Given the description of an element on the screen output the (x, y) to click on. 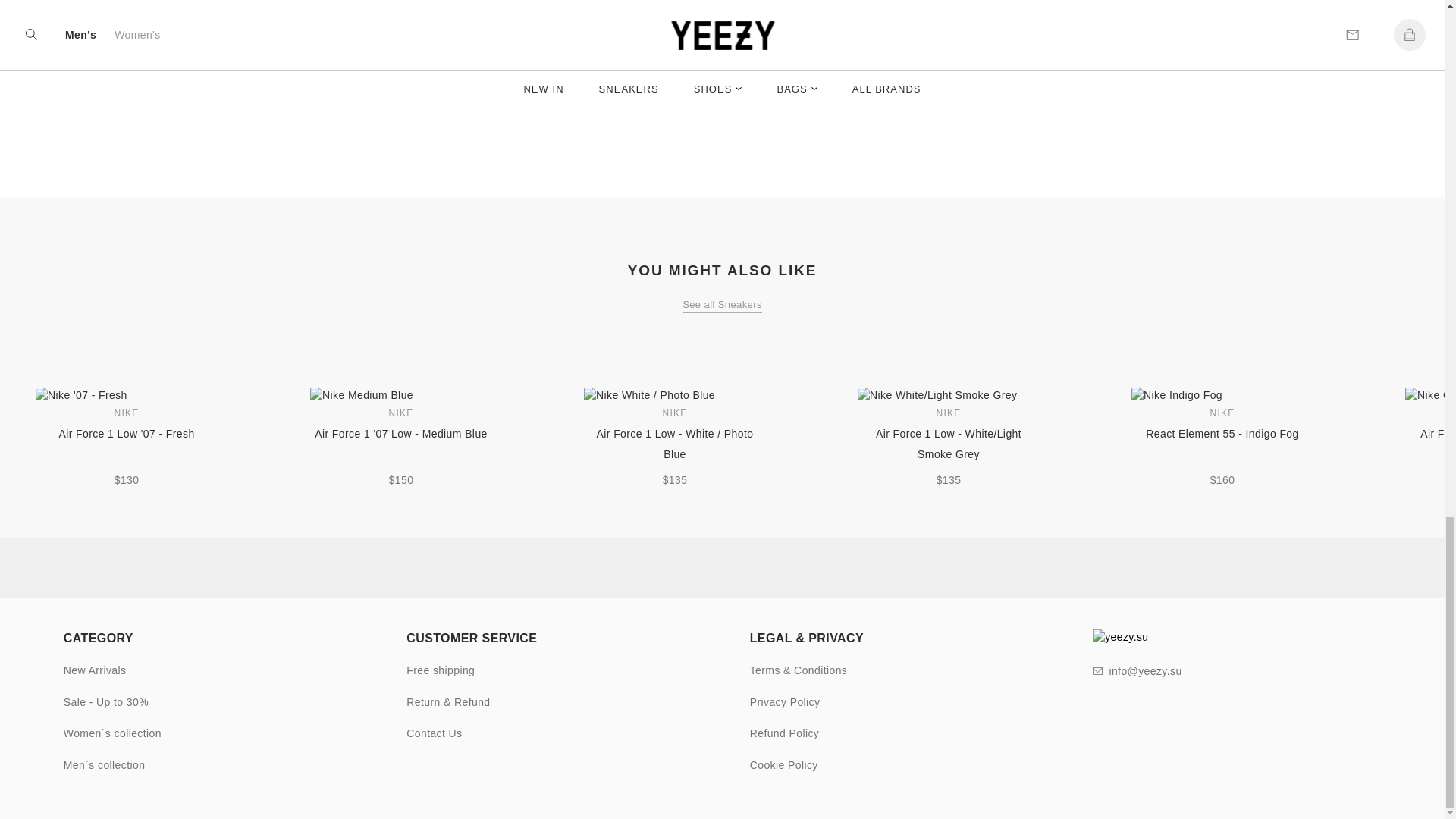
Air Force 1 '07 Low - Medium Blue (400, 445)
'07 - Fresh (126, 395)
Medium Blue (400, 395)
Air Force 1 Low '07 - Fresh (126, 445)
